Given the description of an element on the screen output the (x, y) to click on. 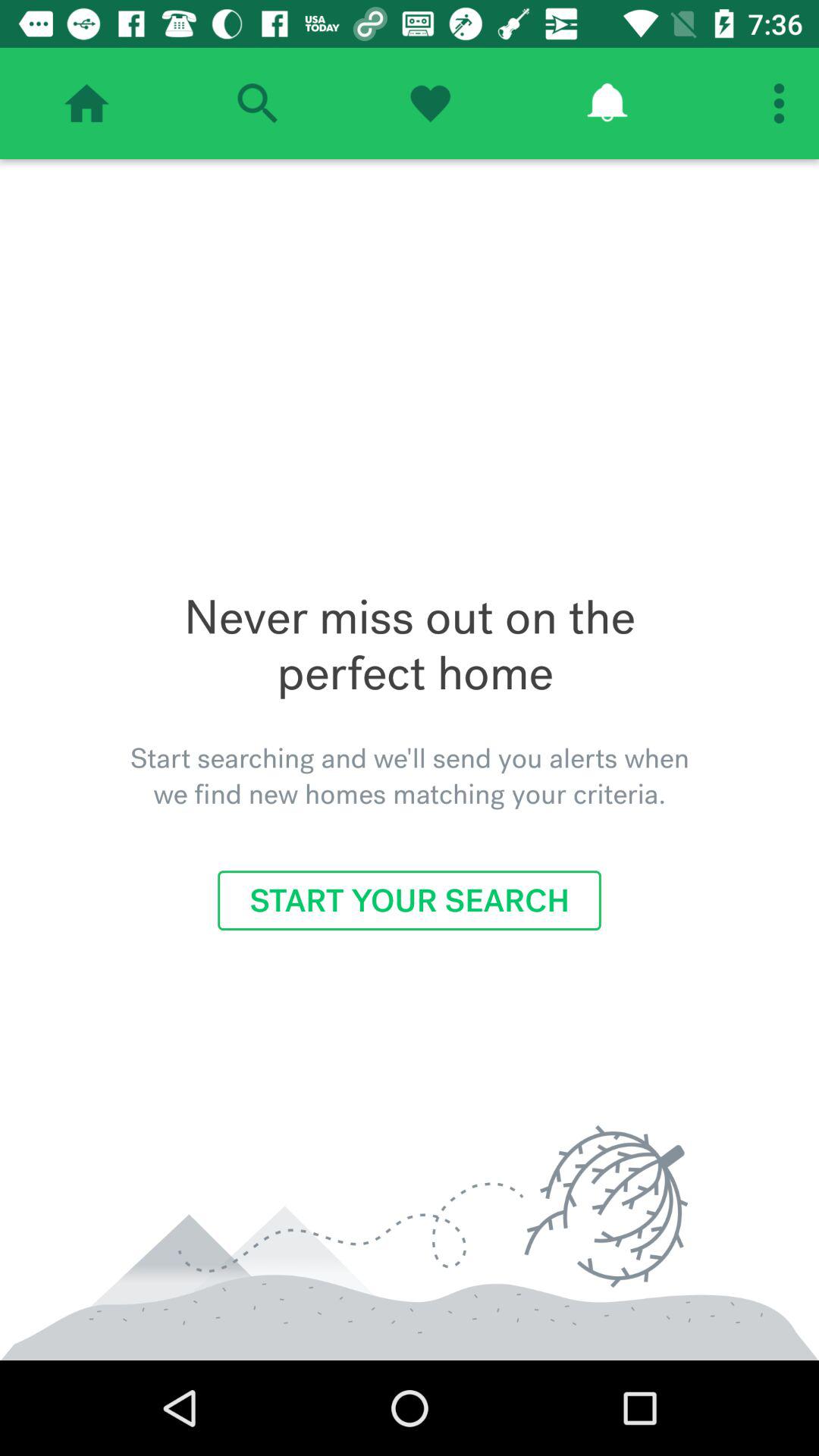
alert option (606, 103)
